Given the description of an element on the screen output the (x, y) to click on. 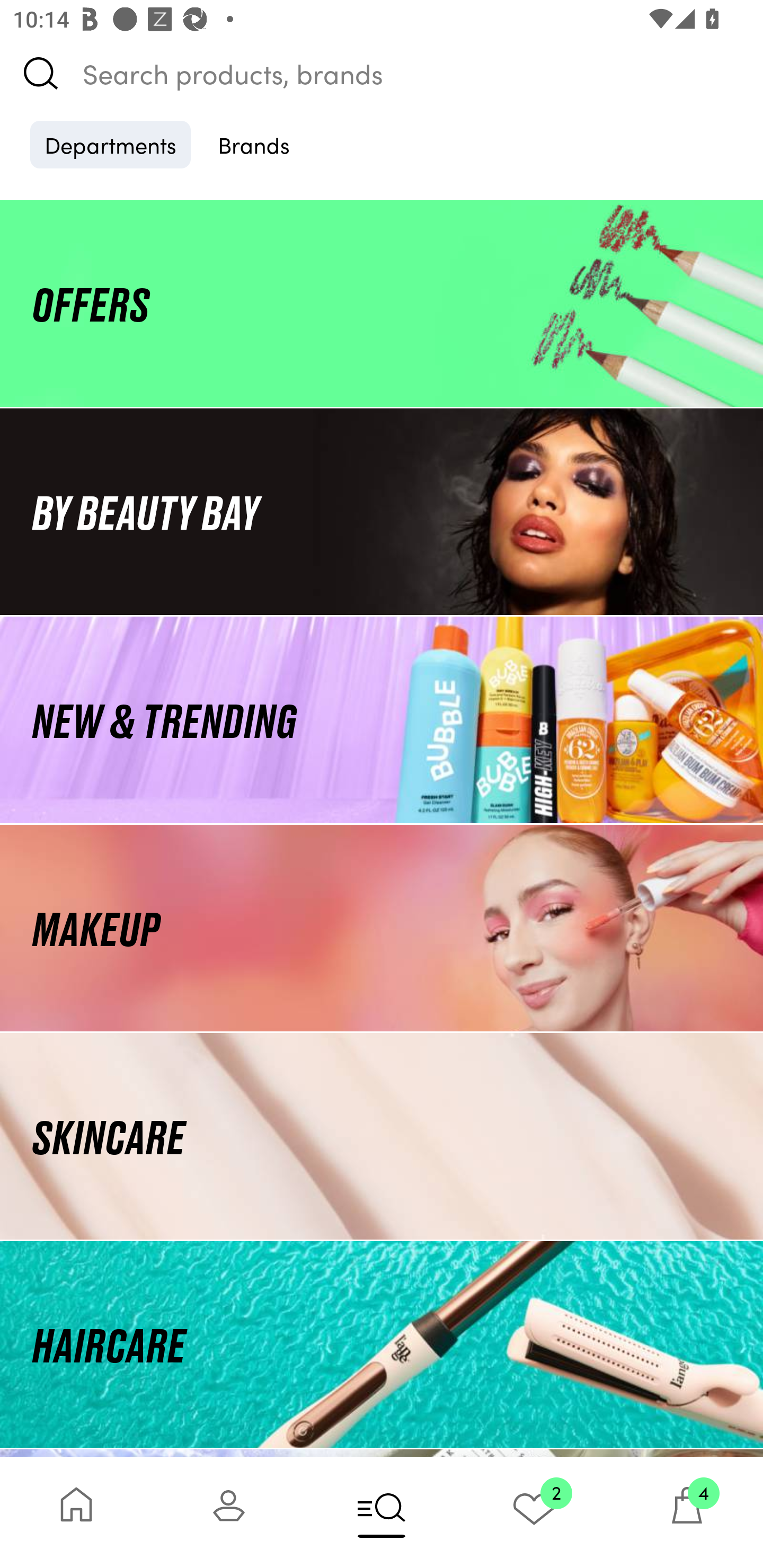
Search products, brands (381, 72)
Departments (110, 143)
Brands (253, 143)
OFFERS (381, 303)
BY BEAUTY BAY (381, 510)
NEW & TRENDING (381, 719)
MAKEUP (381, 927)
SKINCARE (381, 1136)
HAIRCARE (381, 1344)
2 (533, 1512)
4 (686, 1512)
